Given the description of an element on the screen output the (x, y) to click on. 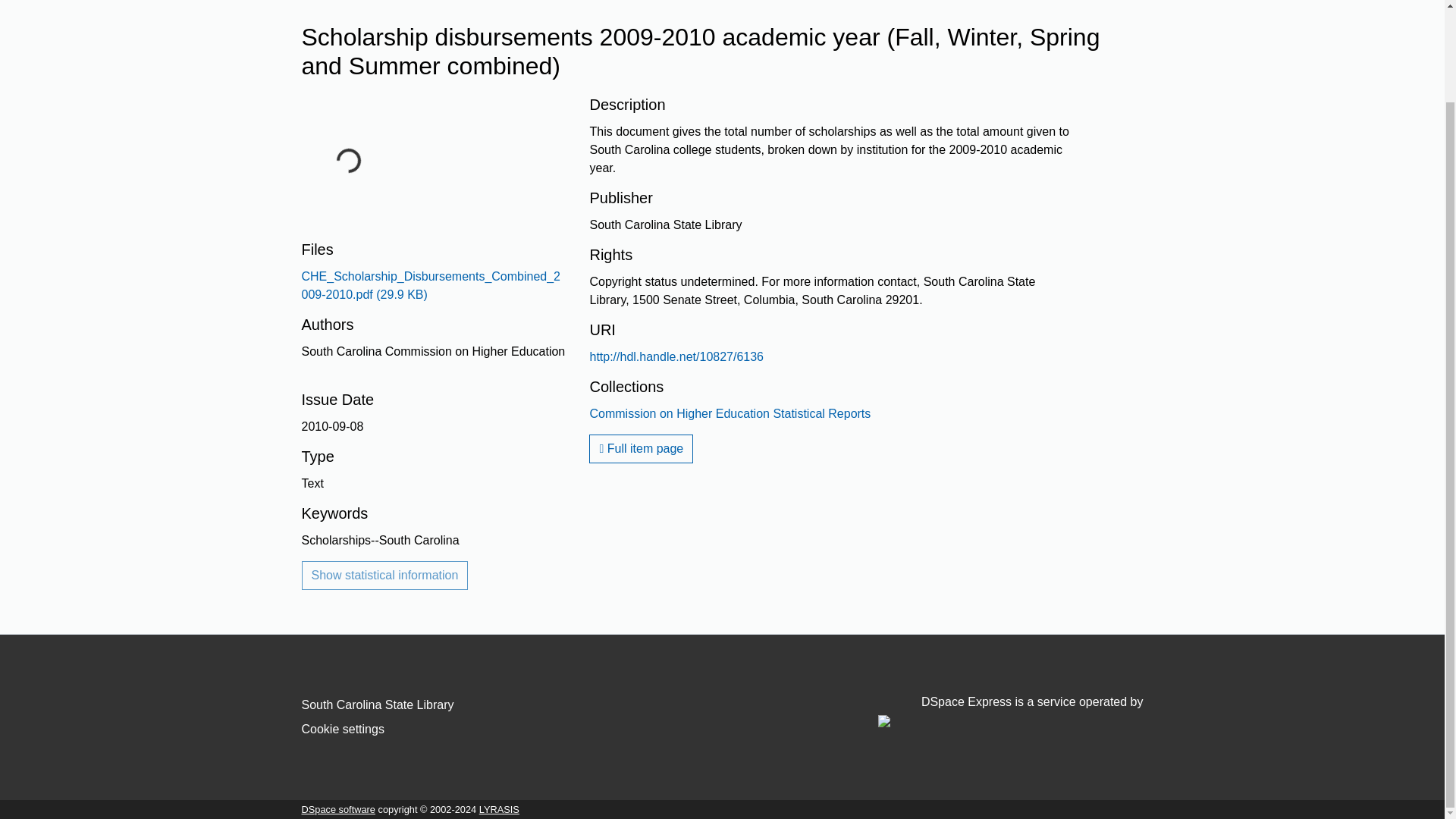
Full item page (641, 448)
Home (317, 0)
Show statistical information (384, 575)
DSpace software (338, 808)
Cookie settings (342, 728)
Commission on Higher Education Statistical Reports (729, 413)
LYRASIS (499, 808)
South Carolina State Library (377, 704)
DSpace Express is a service operated by (1009, 711)
